Given the description of an element on the screen output the (x, y) to click on. 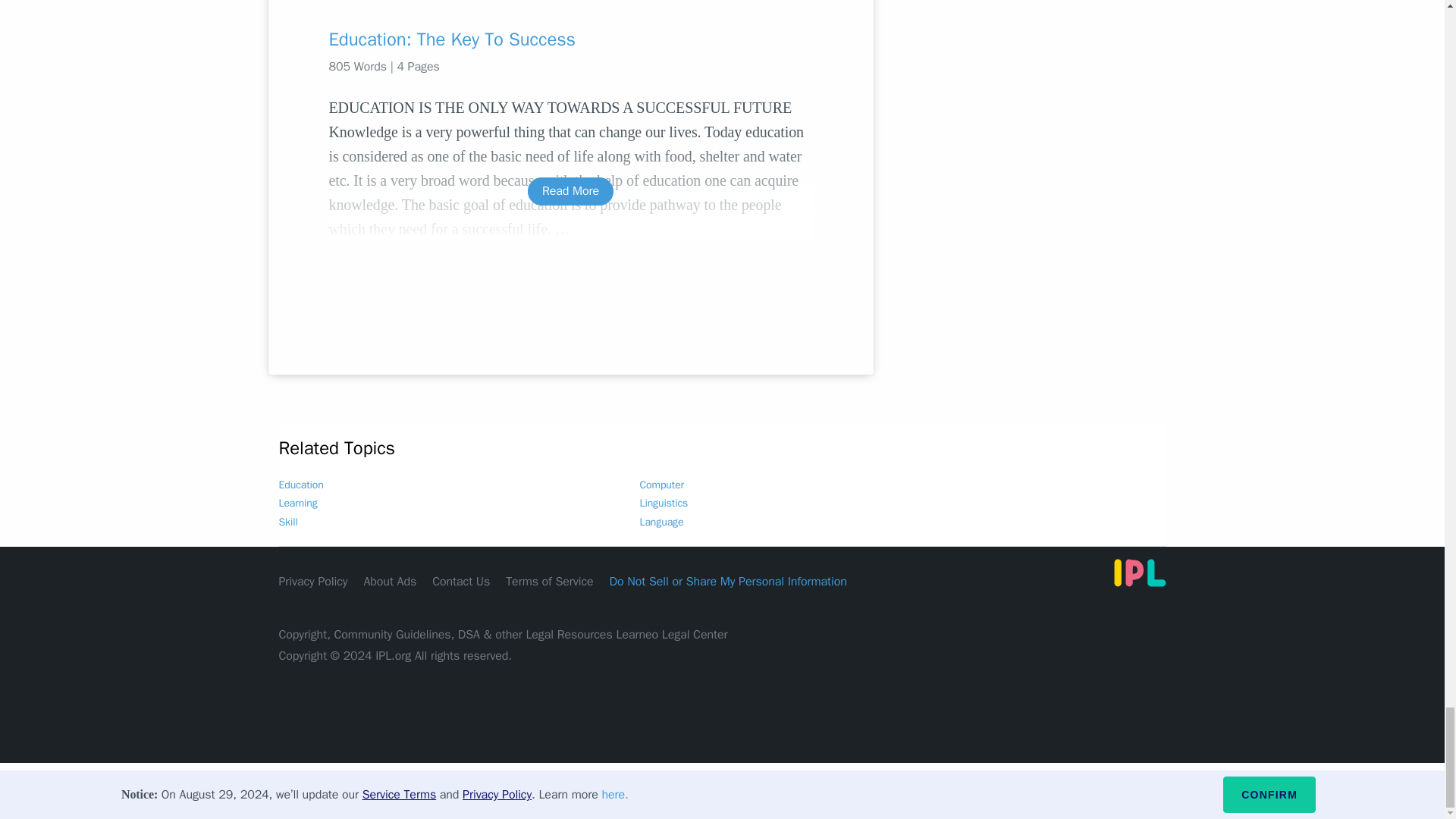
Language (662, 521)
Contact Us (460, 581)
Privacy Policy (313, 581)
Terms of Service (548, 581)
Computer (662, 484)
Linguistics (664, 502)
About Ads (389, 581)
Skill (288, 521)
Learning (298, 502)
Education (301, 484)
